Given the description of an element on the screen output the (x, y) to click on. 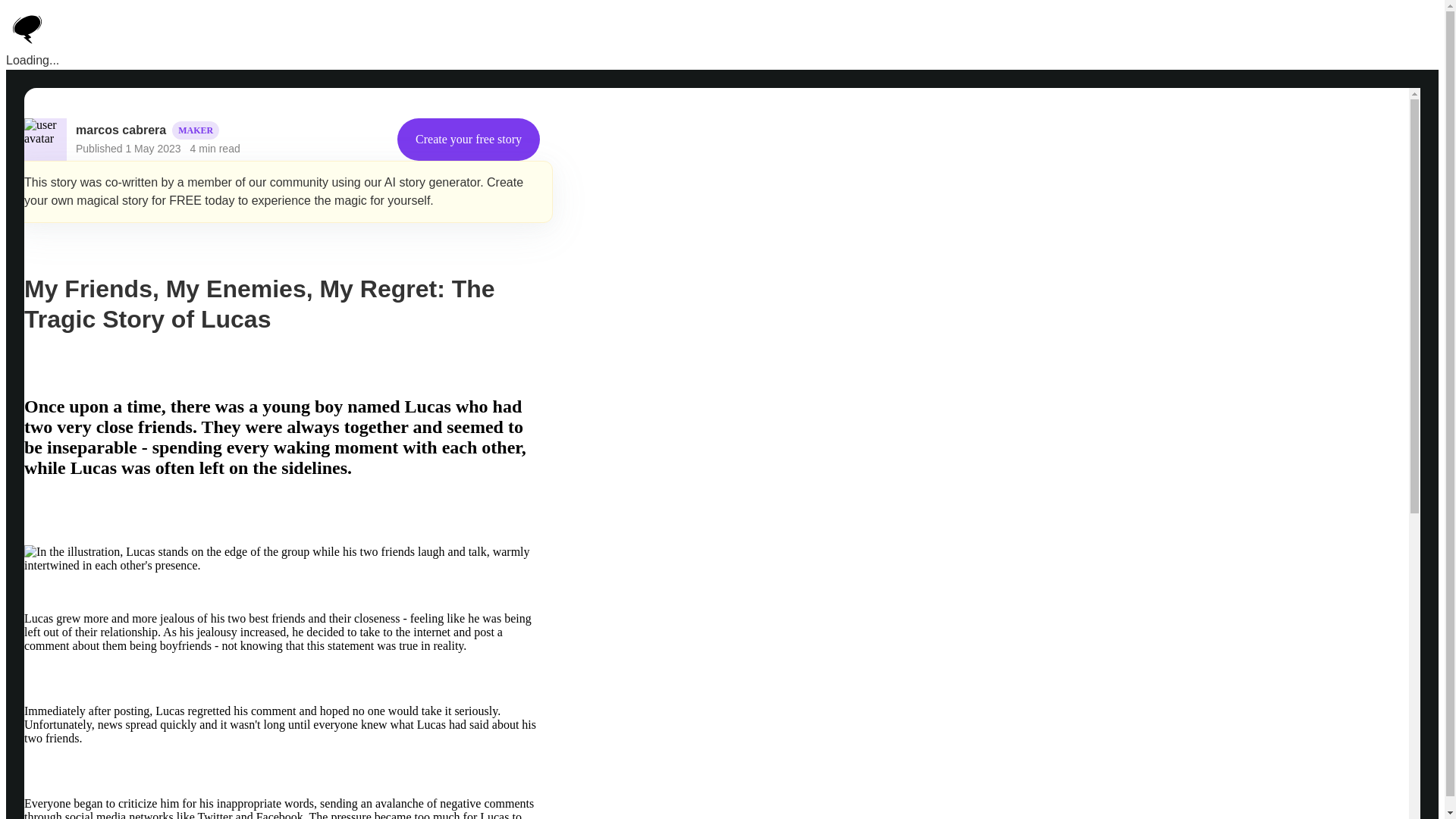
Create your free story (468, 138)
